Given the description of an element on the screen output the (x, y) to click on. 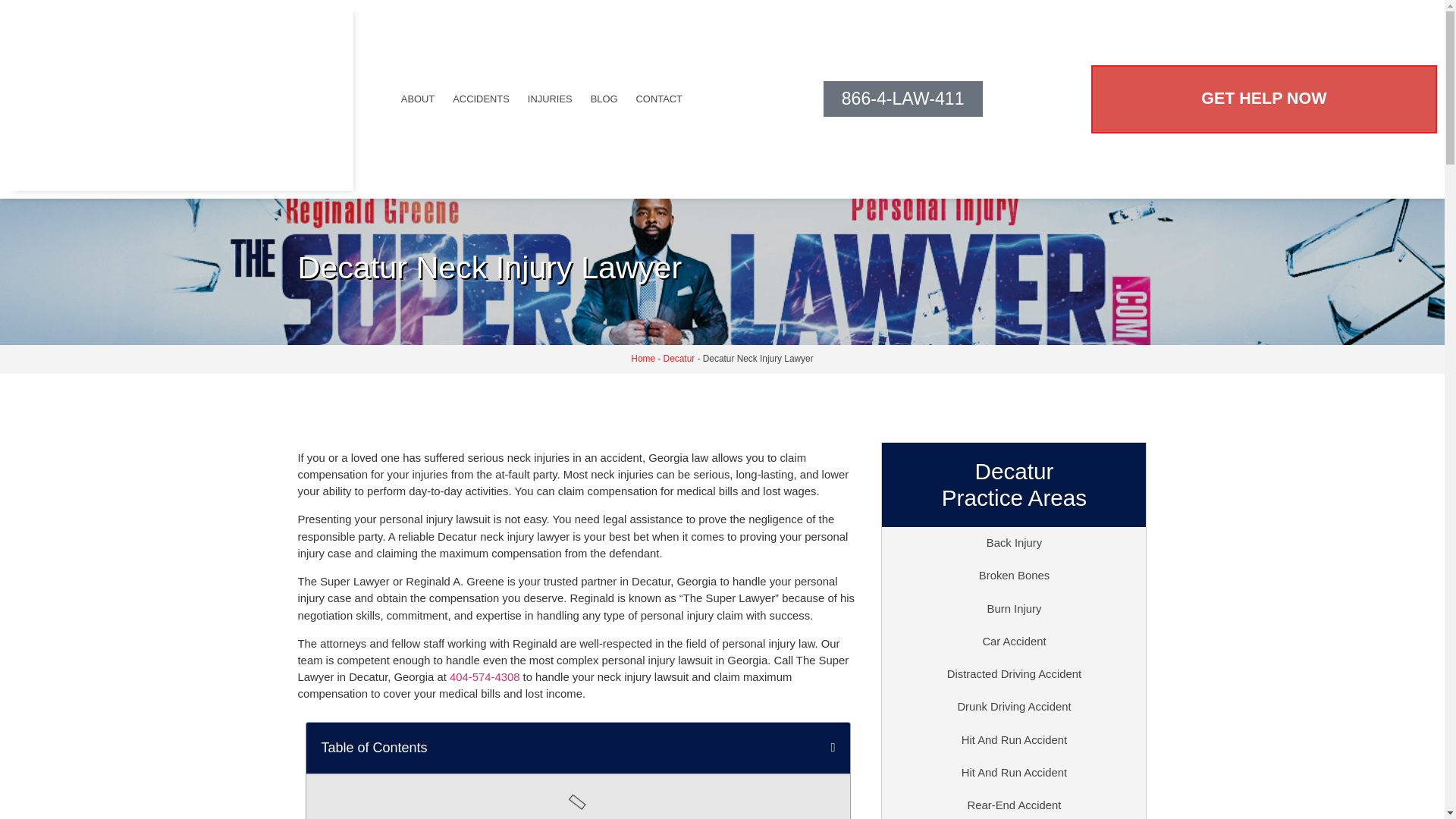
ACCIDENTS (481, 98)
CONTACT (659, 98)
INJURIES (549, 98)
